Given the description of an element on the screen output the (x, y) to click on. 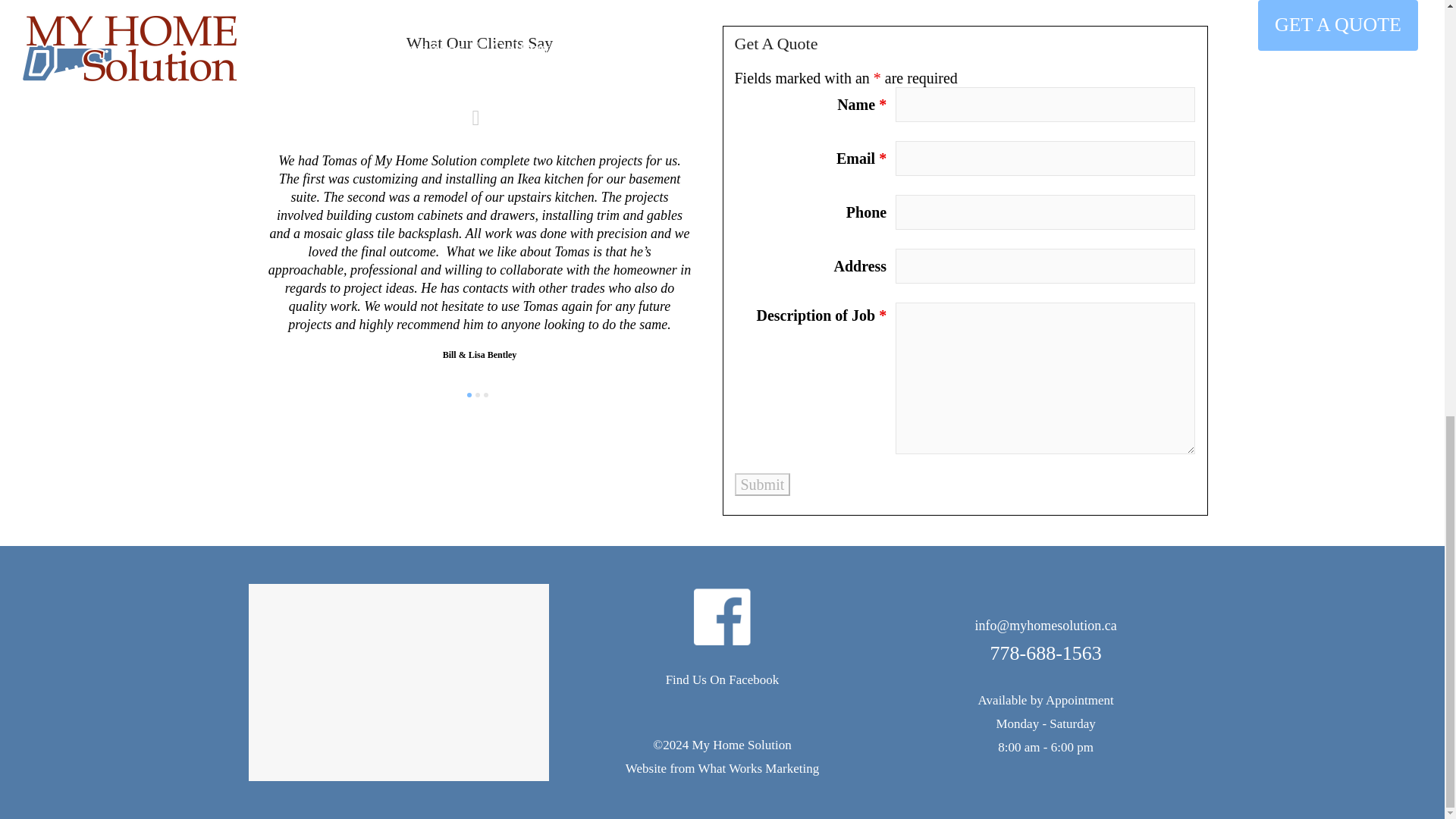
fb white transparent (722, 616)
Submit (761, 484)
What Works Marketing (757, 768)
778-688-1563 (1045, 653)
Facebook (753, 679)
